Given the description of an element on the screen output the (x, y) to click on. 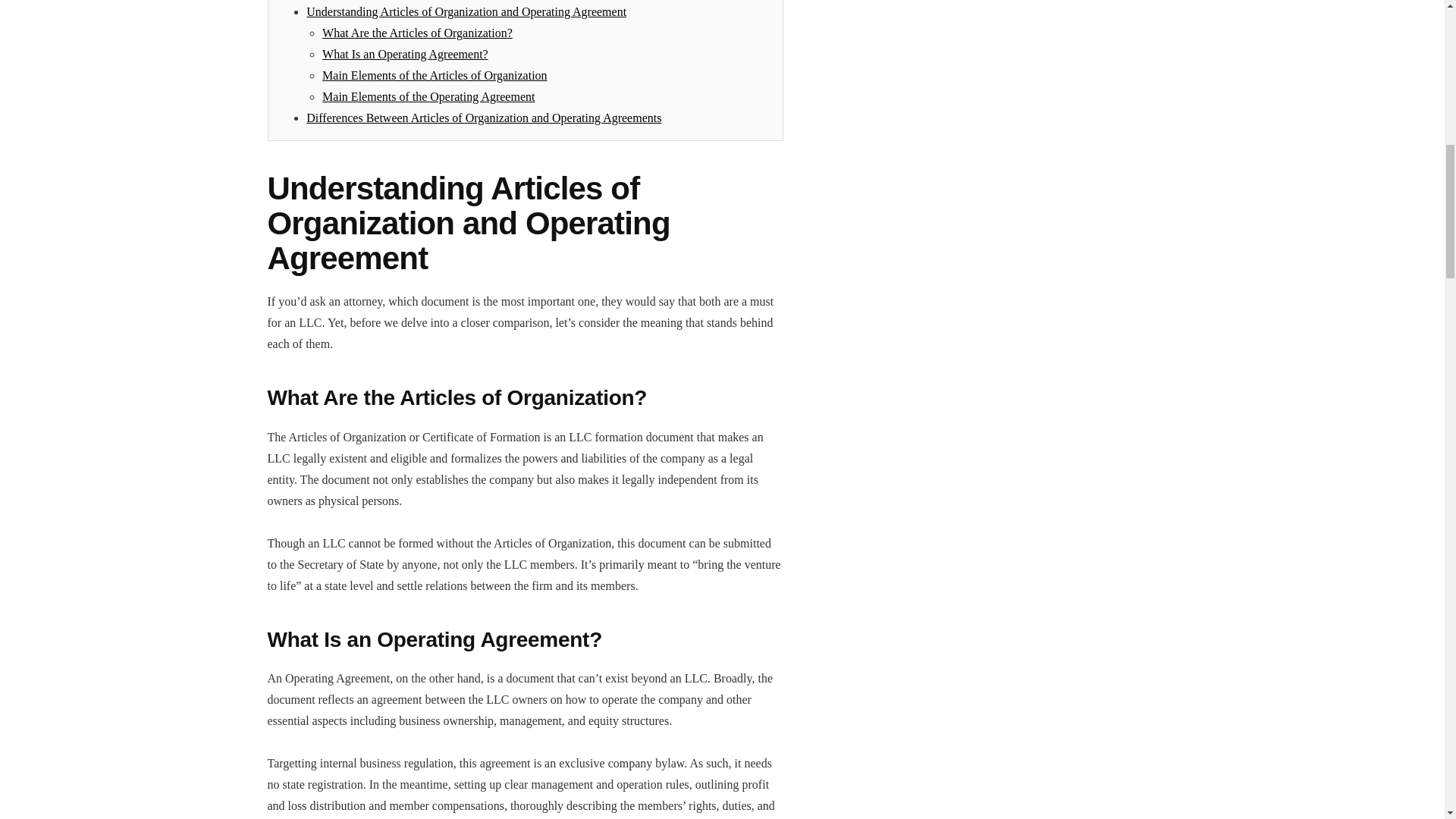
Main Elements of the Operating Agreement (427, 96)
Main Elements of the Articles of Organization (434, 74)
What Are the Articles of Organization? (416, 32)
What Is an Operating Agreement? (404, 53)
